Given the description of an element on the screen output the (x, y) to click on. 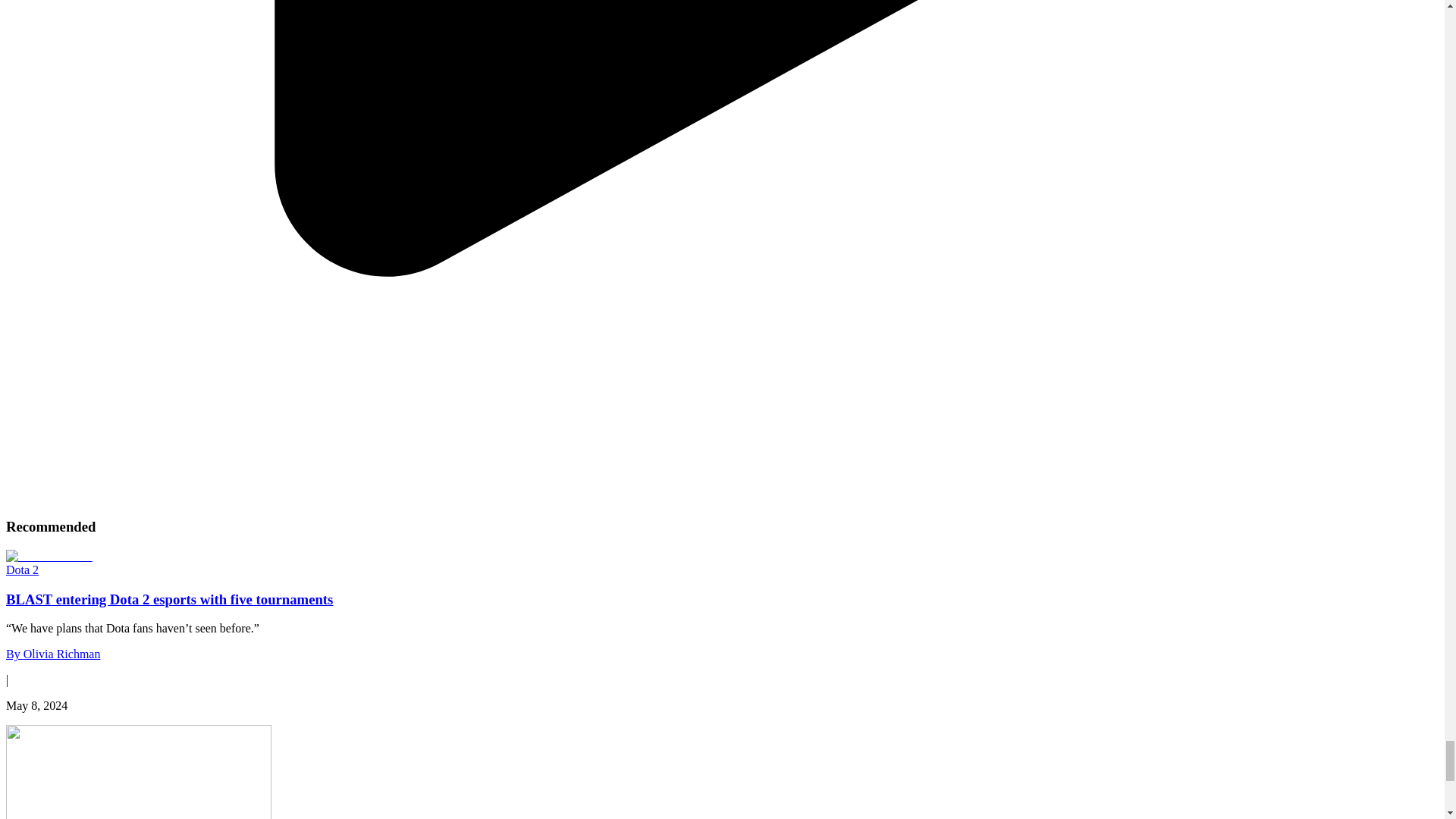
By Olivia Richman (52, 653)
Dota 2 (22, 569)
